Given the description of an element on the screen output the (x, y) to click on. 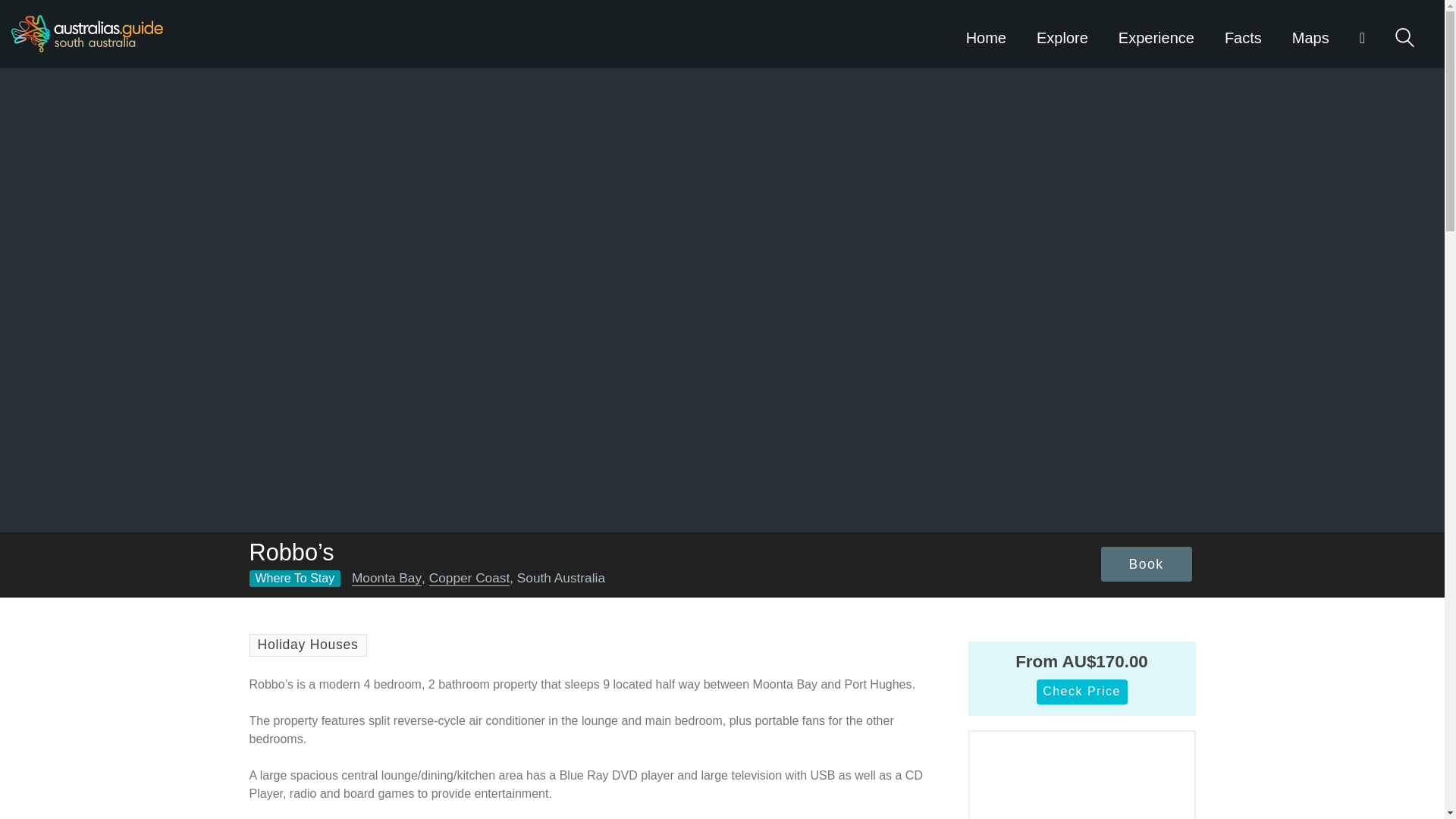
Copper Coast (470, 578)
Experience (1155, 33)
Check Price (1080, 692)
Search (1403, 36)
Moonta Bay (387, 578)
Book (1146, 564)
Where To Stay (294, 578)
